Given the description of an element on the screen output the (x, y) to click on. 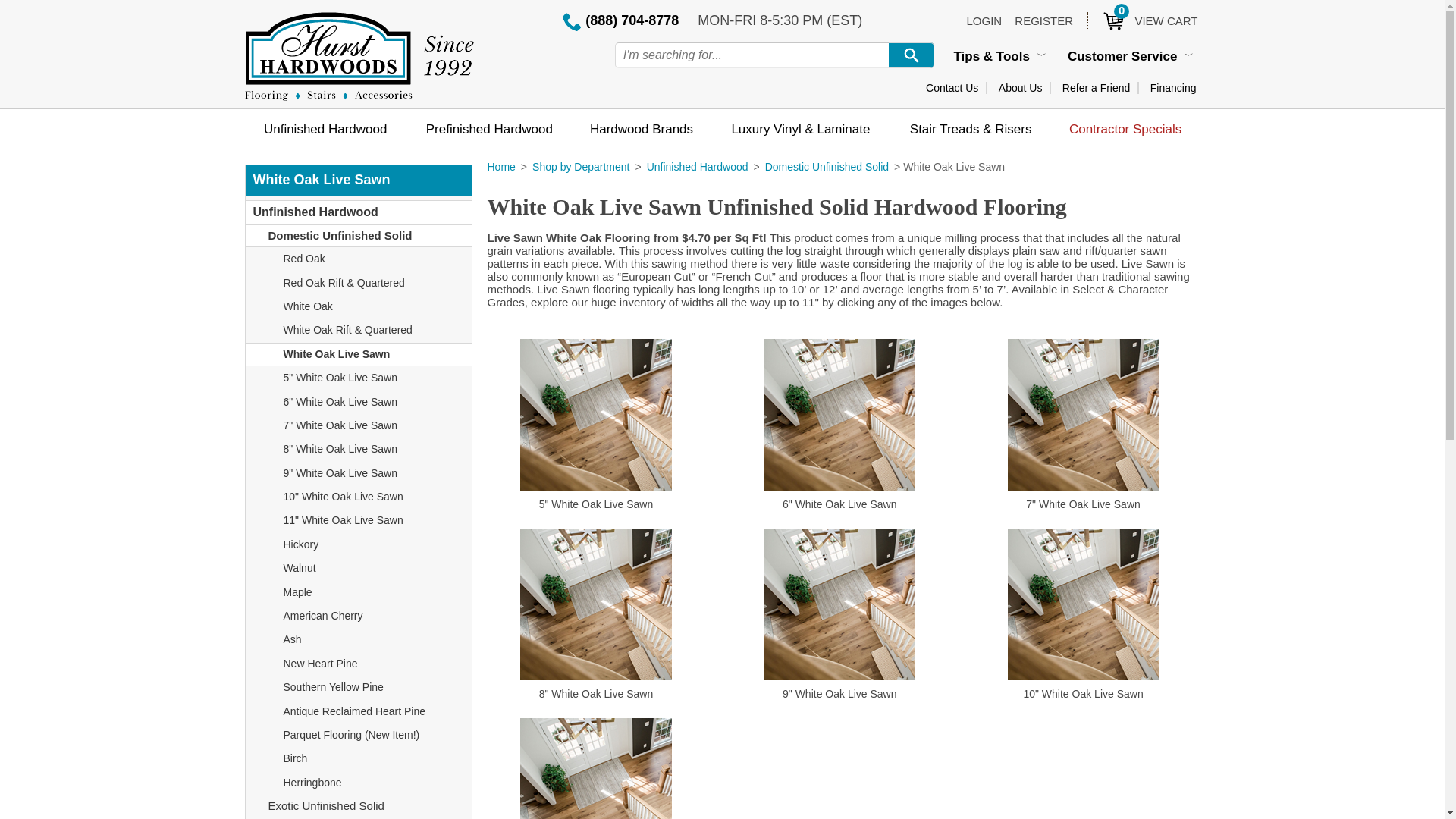
Contact Us (952, 87)
REGISTER (1043, 20)
Refer a Friend (1095, 87)
Financing (1173, 87)
LOGIN (983, 20)
Unfinished Hardwood (325, 128)
About Us (1020, 87)
